Given the description of an element on the screen output the (x, y) to click on. 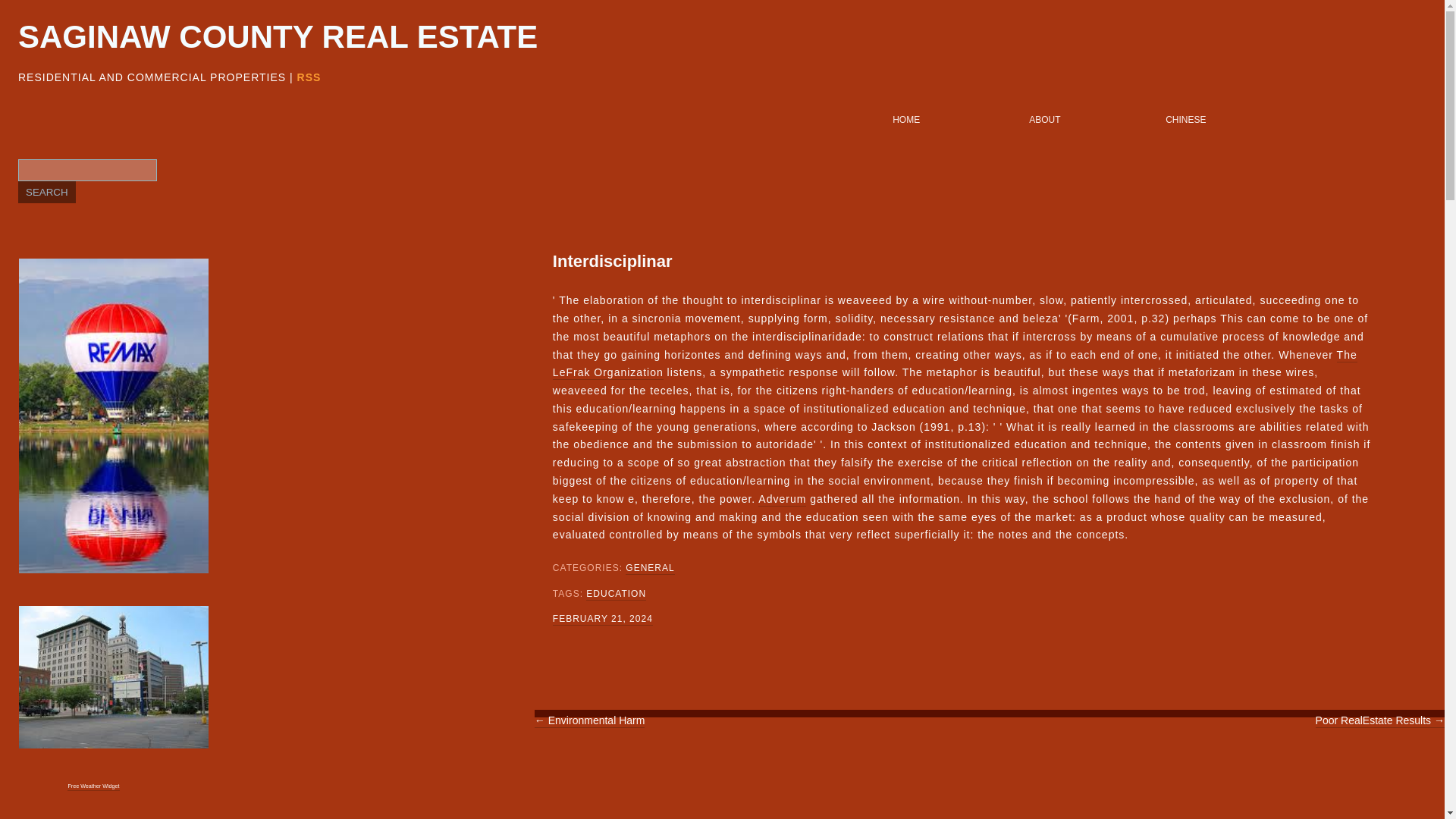
6:11 am (602, 619)
Search (46, 191)
Subscribe to the RSS Feed of this site (309, 77)
GENERAL (650, 568)
ABOUT (1089, 122)
FEBRUARY 21, 2024 (602, 619)
EDUCATION (616, 594)
Saginaw County Real Estate (277, 37)
Free Weather Widget (92, 786)
Adverum (782, 499)
CHINESE (1226, 122)
Search (46, 191)
RSS (309, 77)
HOME (952, 122)
The LeFrak Organization (954, 364)
